Given the description of an element on the screen output the (x, y) to click on. 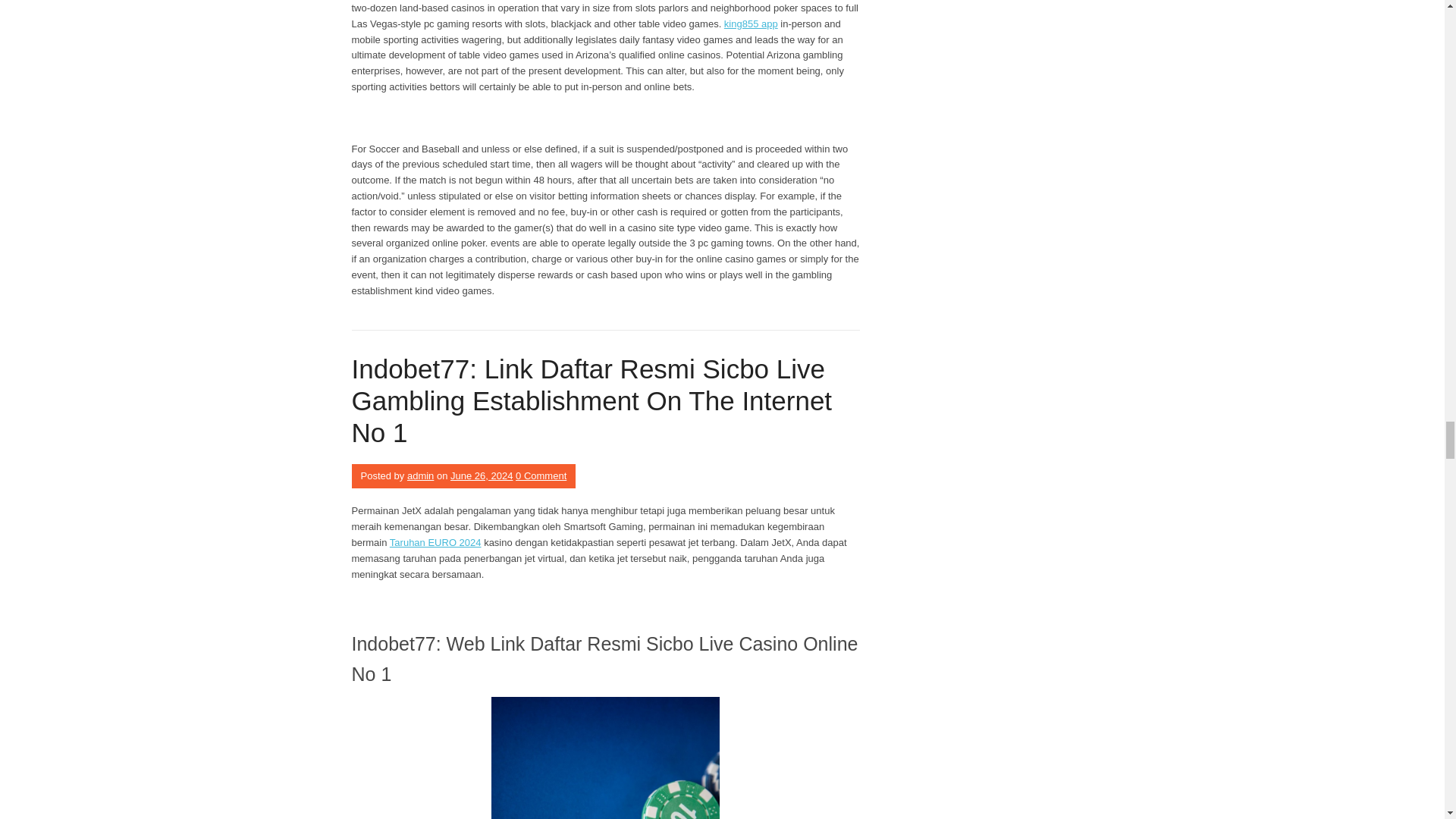
admin (420, 475)
king855 app (750, 23)
June 26, 2024 (480, 475)
